Given the description of an element on the screen output the (x, y) to click on. 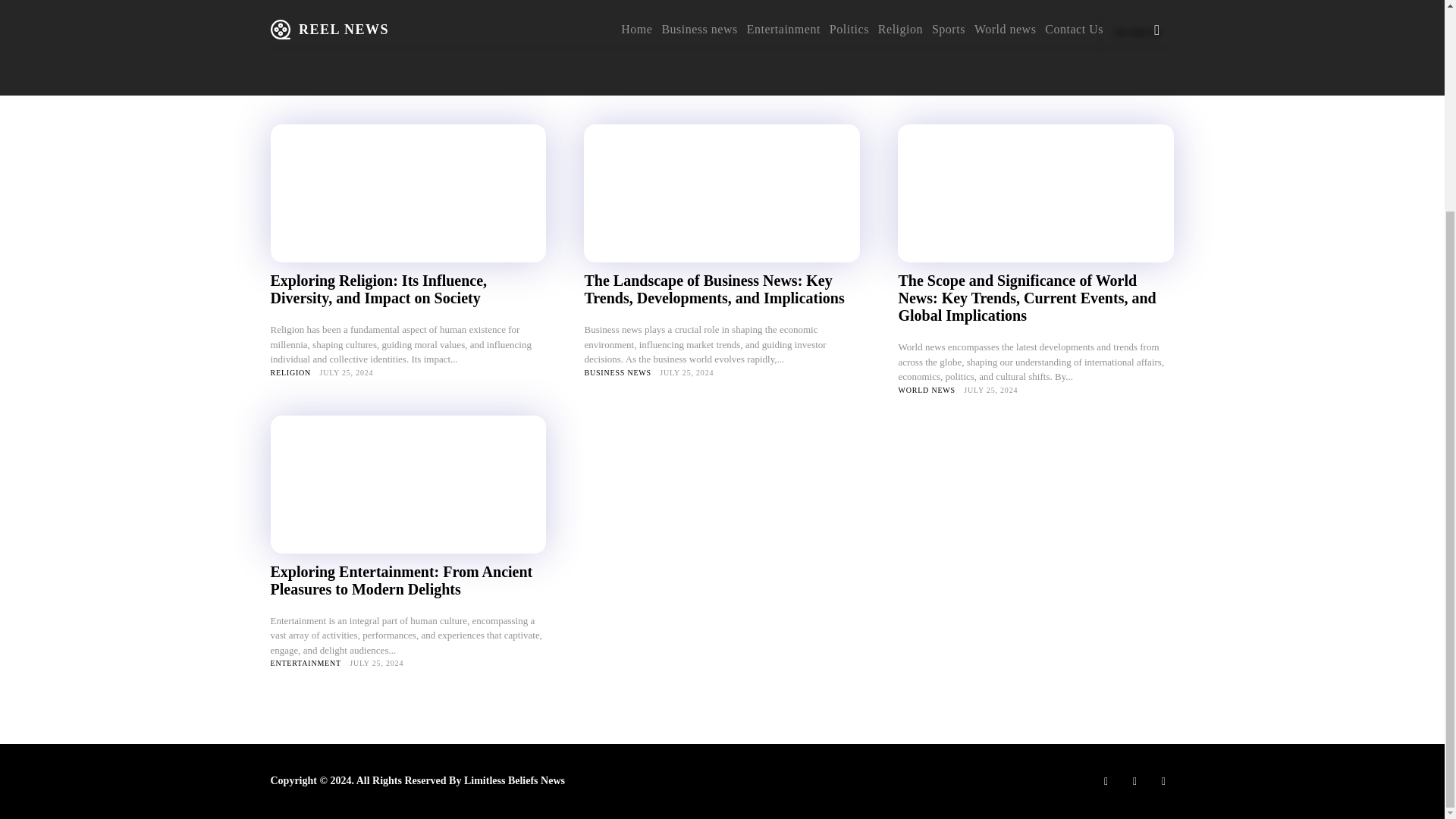
BUSINESS NEWS (616, 371)
RELIGION (290, 371)
WORLD NEWS (926, 389)
Twitter (1163, 780)
